Given the description of an element on the screen output the (x, y) to click on. 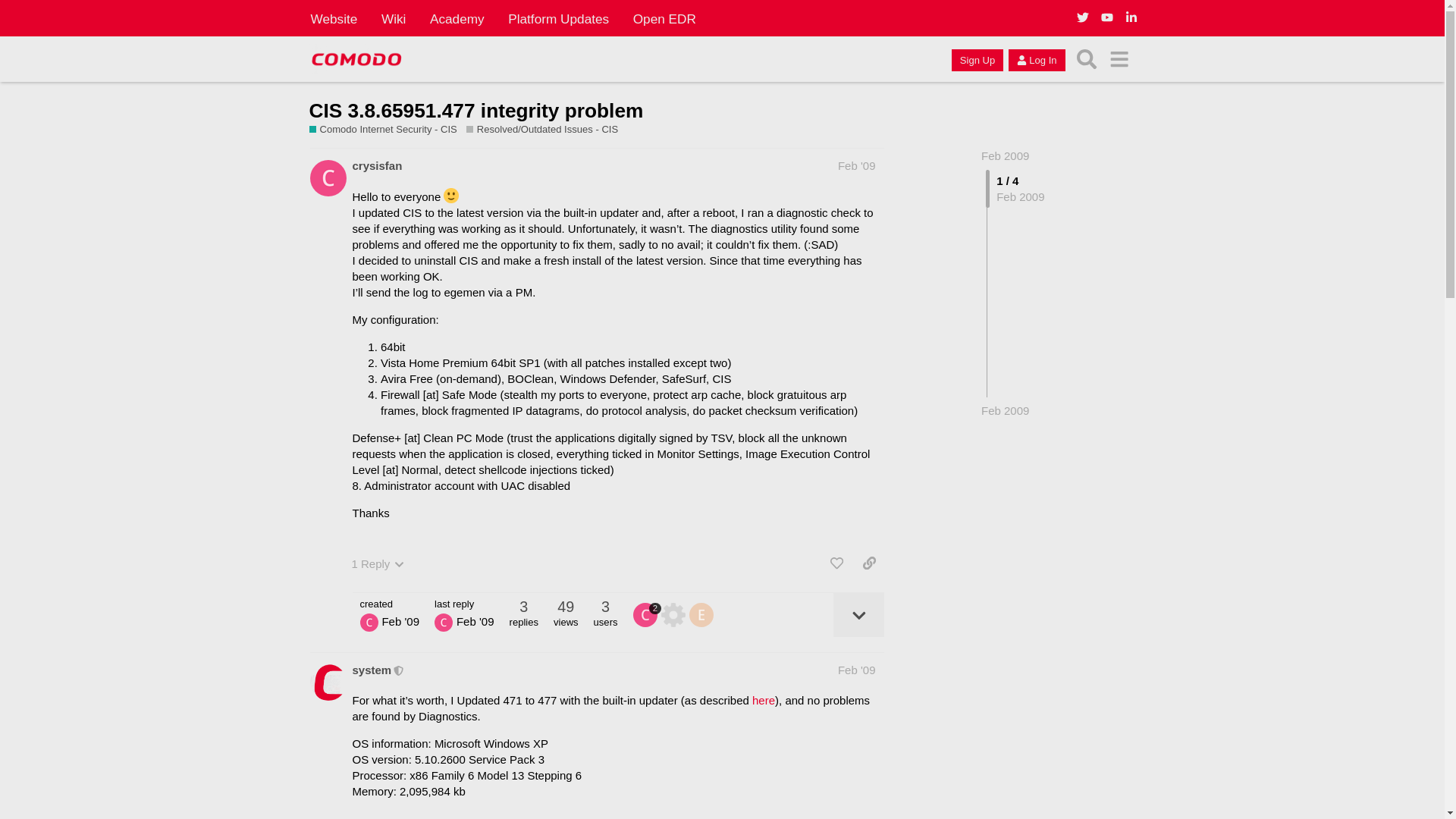
system (371, 669)
1 Reply (377, 563)
Open EDR (664, 18)
Platform Updates (558, 18)
Wiki (393, 18)
Open EDR (664, 18)
Search (1086, 59)
here (763, 699)
Website (333, 18)
Website (333, 18)
Feb 2009 (1005, 155)
menu (1119, 59)
Feb 2009 (1005, 410)
crysisfan (376, 165)
Academy (456, 18)
